Given the description of an element on the screen output the (x, y) to click on. 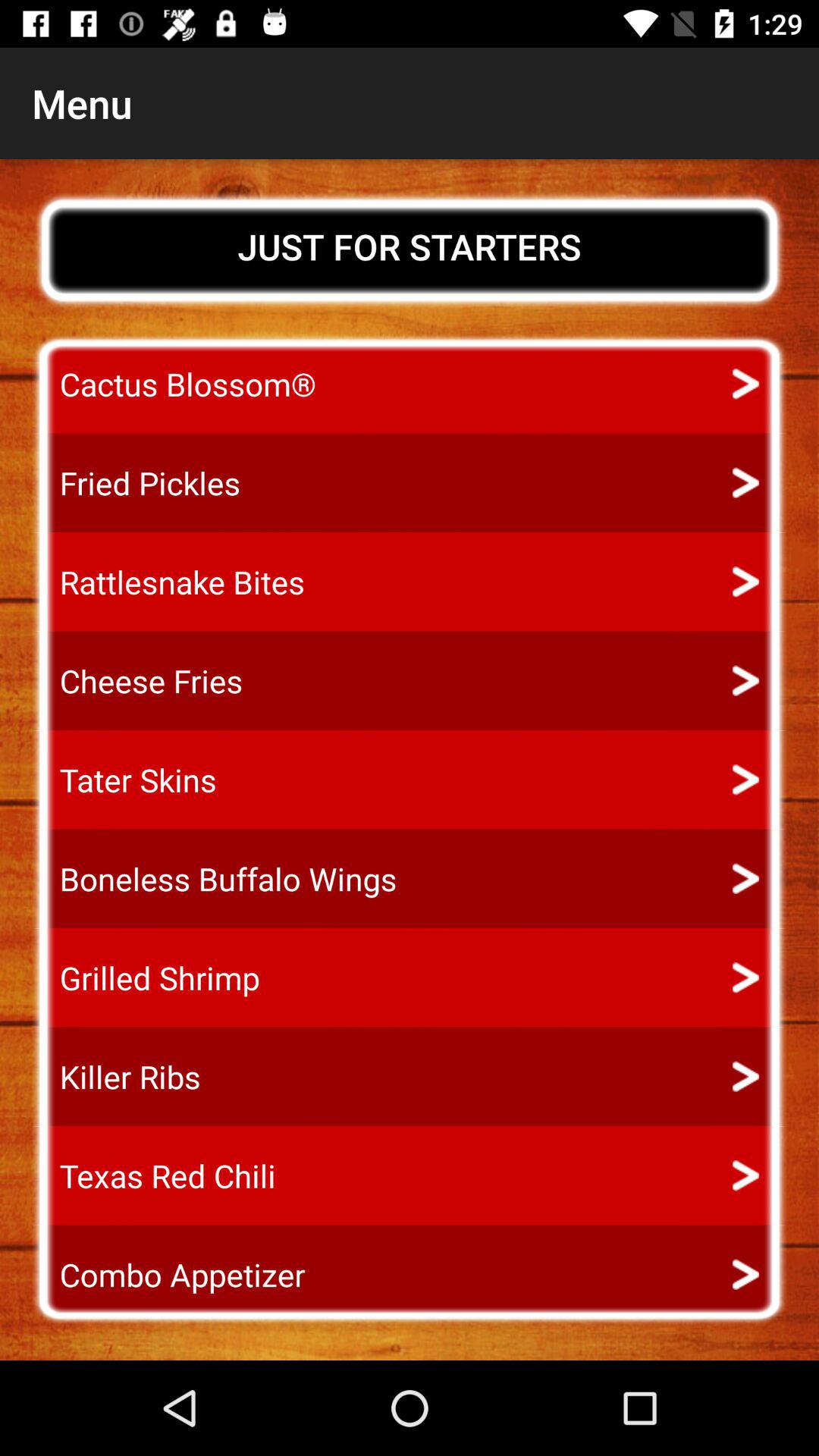
launch the icon below the texas red chili app (168, 1274)
